Given the description of an element on the screen output the (x, y) to click on. 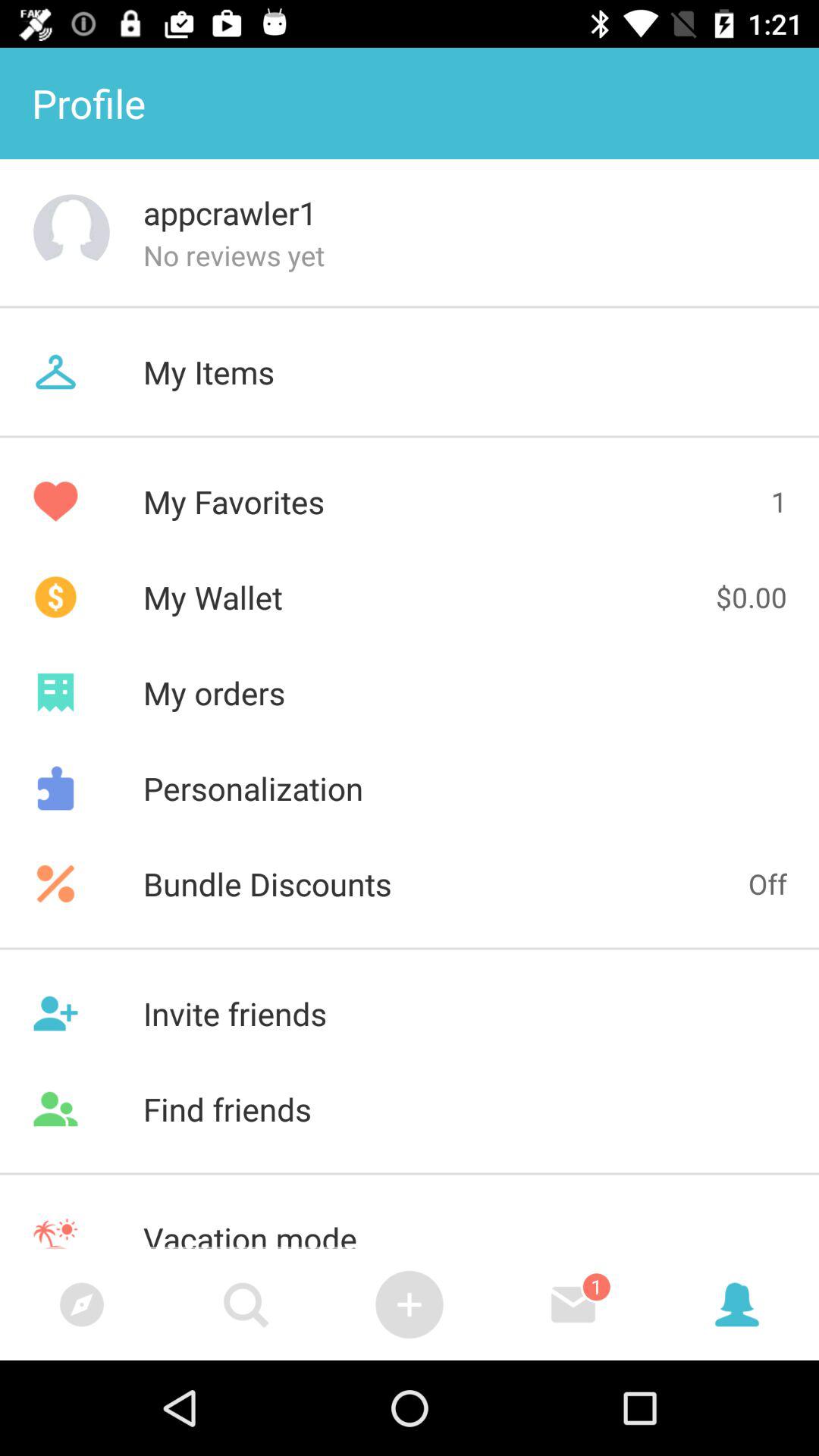
press icon above personalization (409, 692)
